Given the description of an element on the screen output the (x, y) to click on. 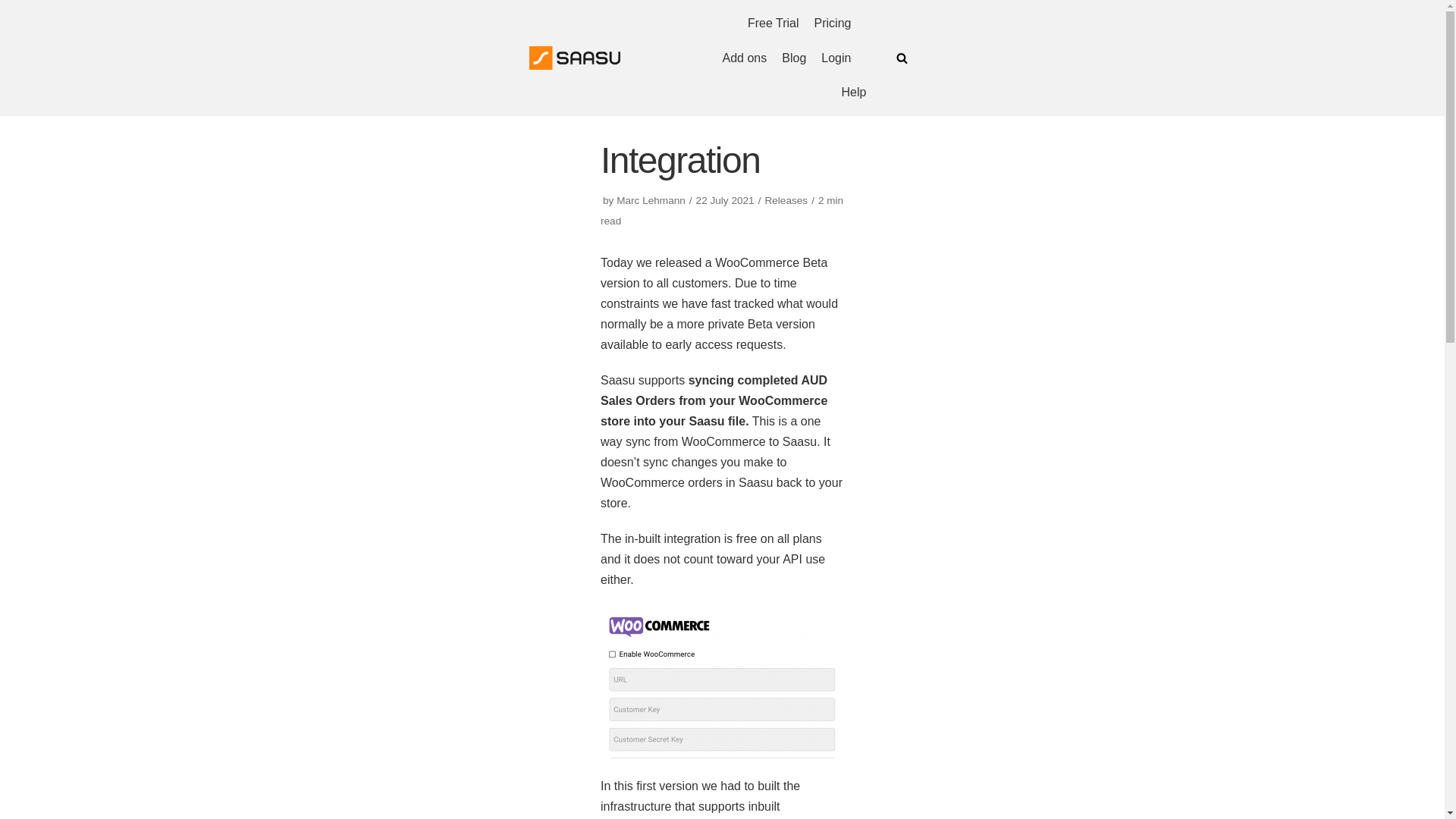
Login (835, 57)
Pricing (832, 23)
Search (897, 409)
Releases (786, 200)
Marc Lehmann (650, 200)
Help (853, 92)
Free Trial (773, 23)
Posts by Marc Lehmann (650, 200)
Skip to content (15, 31)
Online Accounting (574, 57)
